Given the description of an element on the screen output the (x, y) to click on. 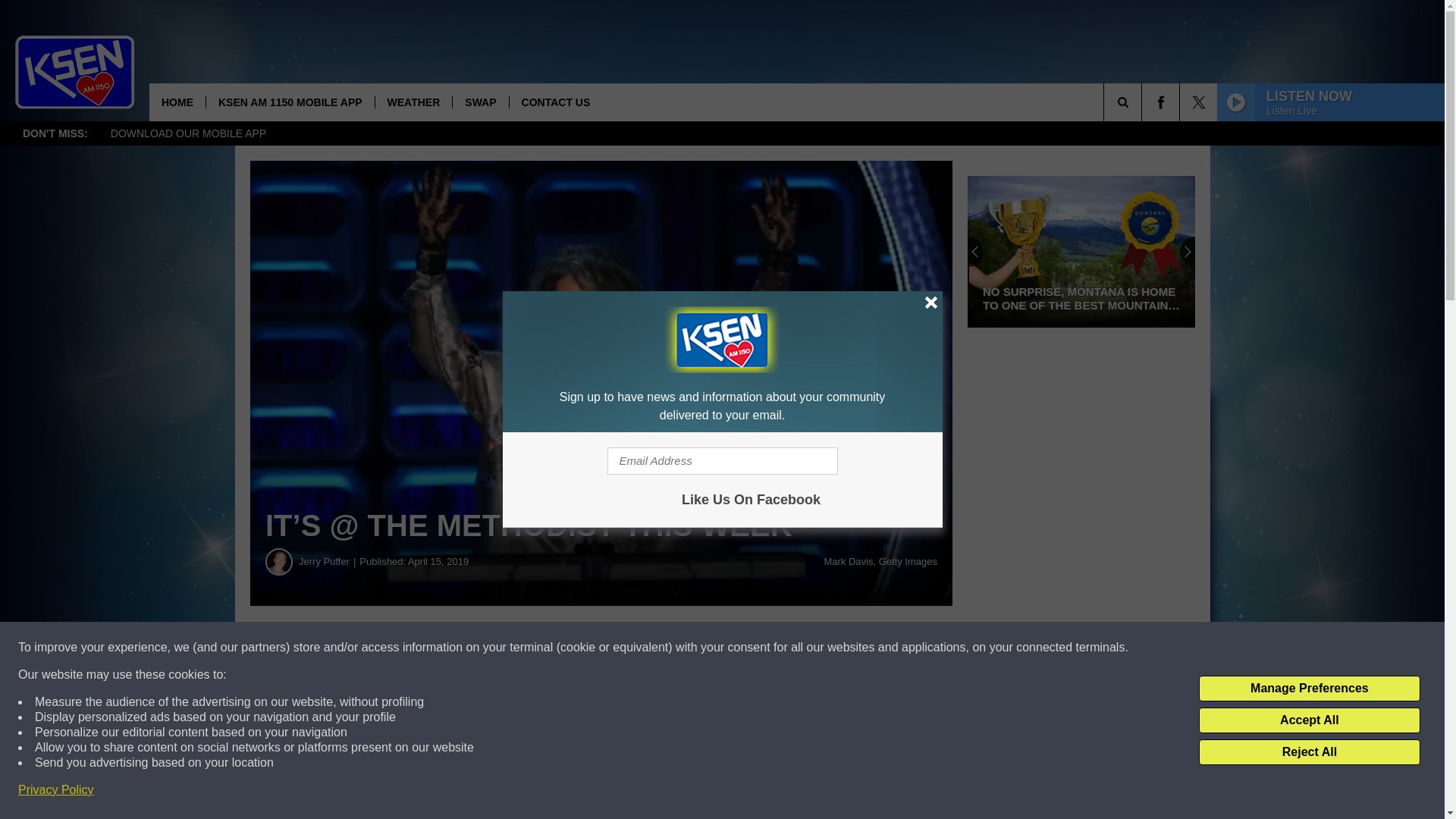
WEATHER (413, 102)
HOME (177, 102)
Share on Facebook (460, 647)
Reject All (1309, 751)
Privacy Policy (55, 789)
CONTACT US (555, 102)
Share on Twitter (741, 647)
SWAP (479, 102)
Email Address (722, 461)
Visit us on Facebook (1160, 102)
KSEN AM 1150 MOBILE APP (289, 102)
SEARCH (1144, 102)
Manage Preferences (1309, 688)
SEARCH (1144, 102)
DOWNLOAD OUR MOBILE APP (188, 133)
